Given the description of an element on the screen output the (x, y) to click on. 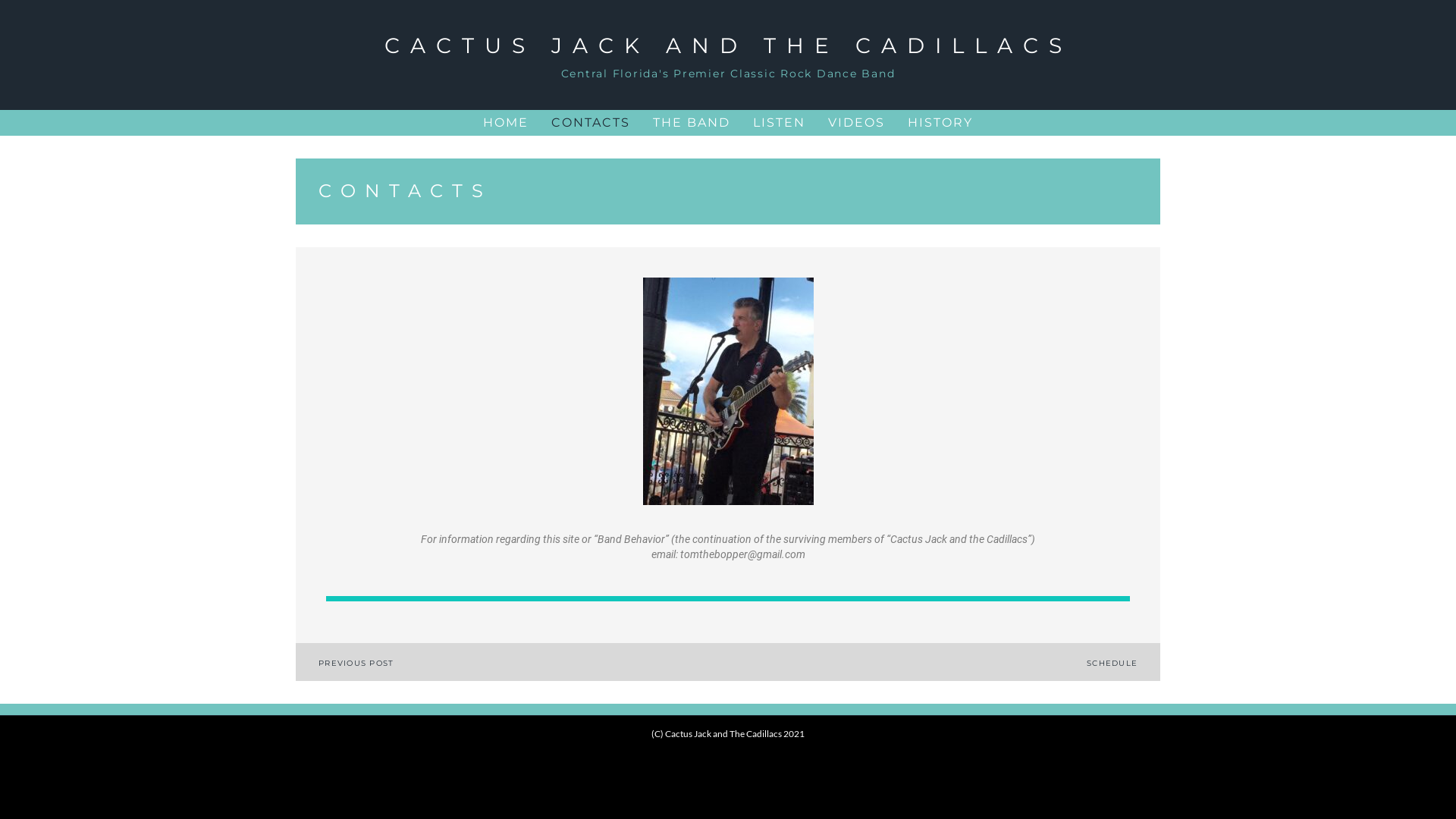
HISTORY Element type: text (939, 122)
VIDEOS Element type: text (856, 122)
THE BAND Element type: text (691, 122)
CONTACTS Element type: text (590, 122)
SCHEDULE Element type: text (1111, 663)
CACTUS JACK AND THE CADILLACS Element type: text (727, 45)
LISTEN Element type: text (779, 122)
HOME Element type: text (505, 122)
PREVIOUS POST Element type: text (355, 663)
